Given the description of an element on the screen output the (x, y) to click on. 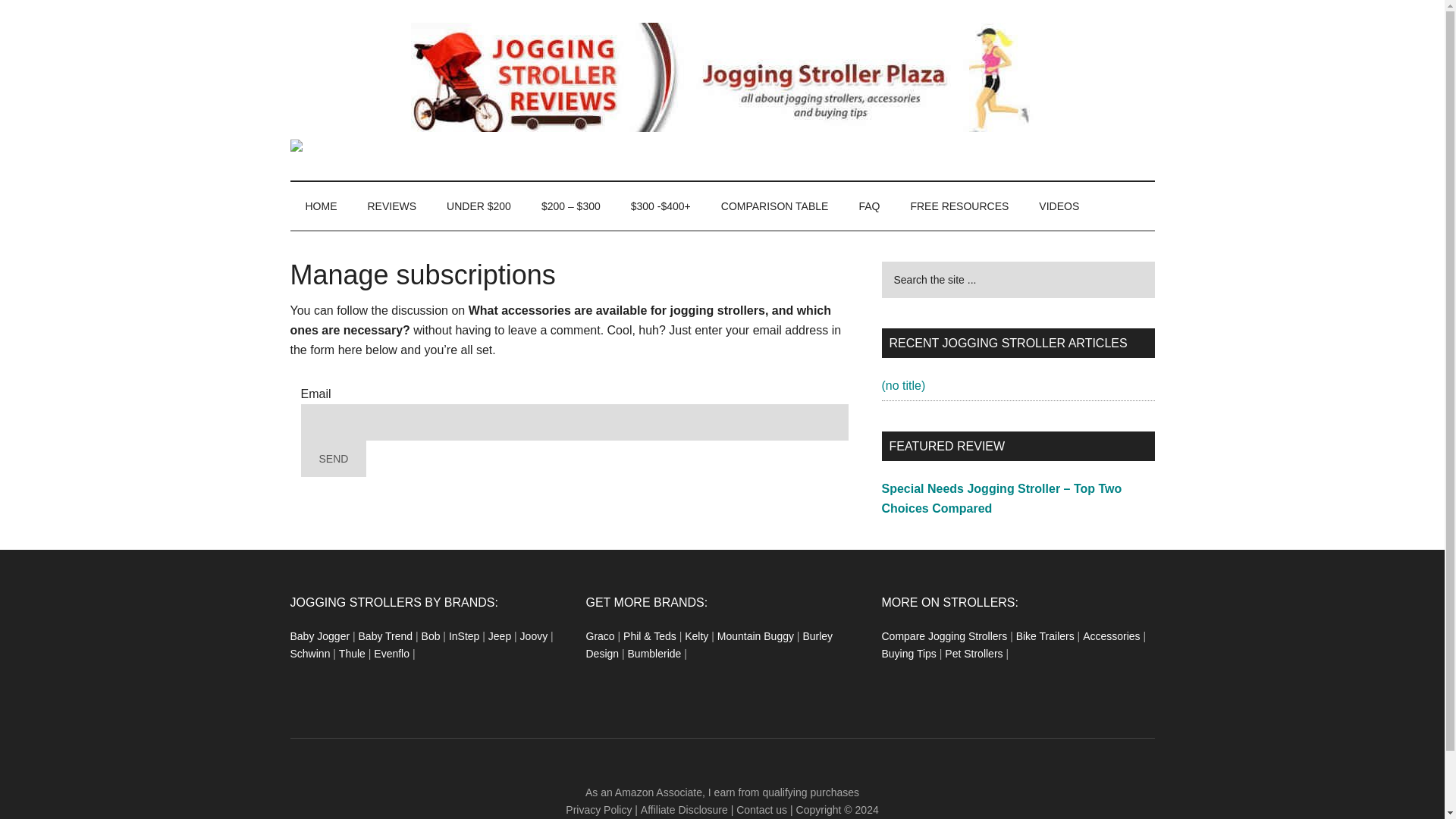
Thule (352, 653)
Mountain Buggy (755, 635)
Pet Strollers (973, 653)
Send (332, 458)
Buying Tips (908, 653)
FREE RESOURCES (959, 205)
REVIEWS (391, 205)
Baby Jogger (319, 635)
Evenflo (391, 653)
Bike Trailers (1045, 635)
Bumbleride (654, 653)
Baby Trend (385, 635)
